Given the description of an element on the screen output the (x, y) to click on. 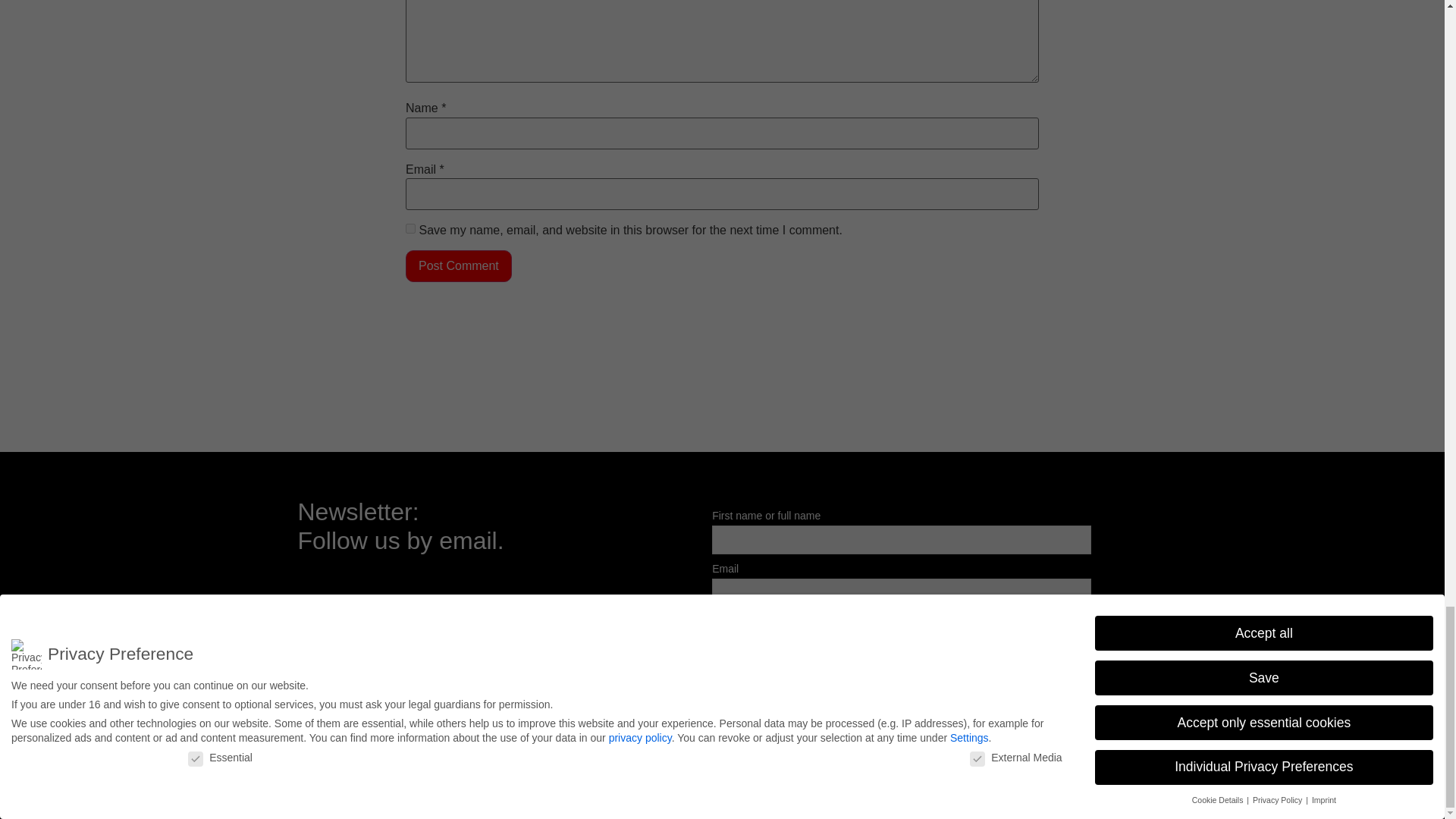
yes (410, 228)
Post Comment (459, 265)
Subscribe (750, 654)
Subscribe (750, 654)
Post Comment (459, 265)
I accept the Privacy Statement (802, 621)
Imprint (1043, 763)
on (716, 620)
Privacy Policy (1109, 763)
